Given the description of an element on the screen output the (x, y) to click on. 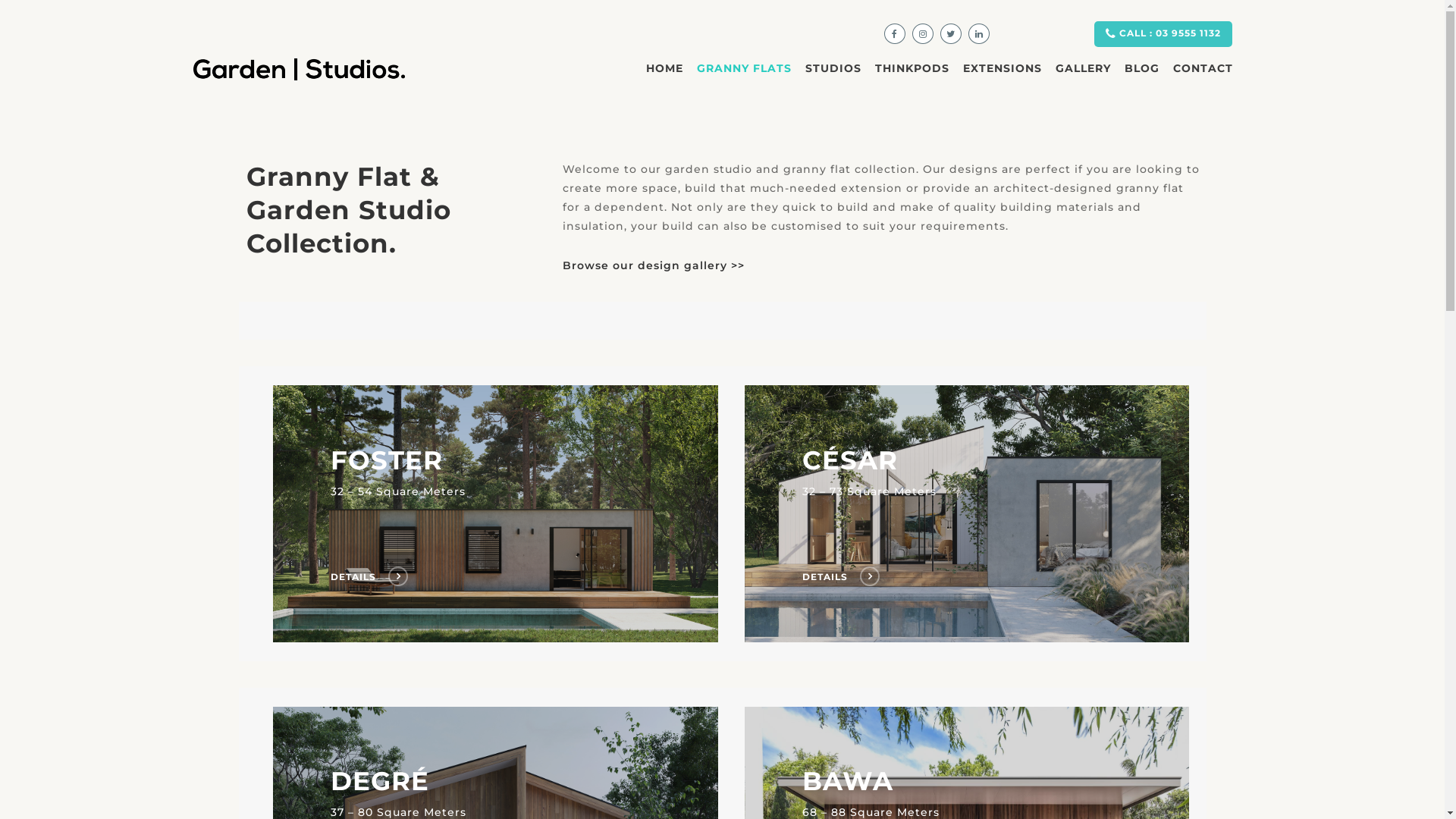
Browse our design gallery >> Element type: text (653, 265)
BLOG Element type: text (1141, 79)
GALLERY Element type: text (1083, 79)
CONTACT Element type: text (1203, 79)
EXTENSIONS Element type: text (1002, 79)
HOME Element type: text (664, 79)
THINKPODS Element type: text (912, 79)
linkedin Element type: text (978, 33)
STUDIOS Element type: text (833, 79)
GRANNY FLATS Element type: text (743, 79)
instagram Element type: text (922, 33)
facebook Element type: text (894, 33)
CALL : 03 9555 1132 Element type: text (1163, 34)
twitter Element type: text (950, 33)
